Given the description of an element on the screen output the (x, y) to click on. 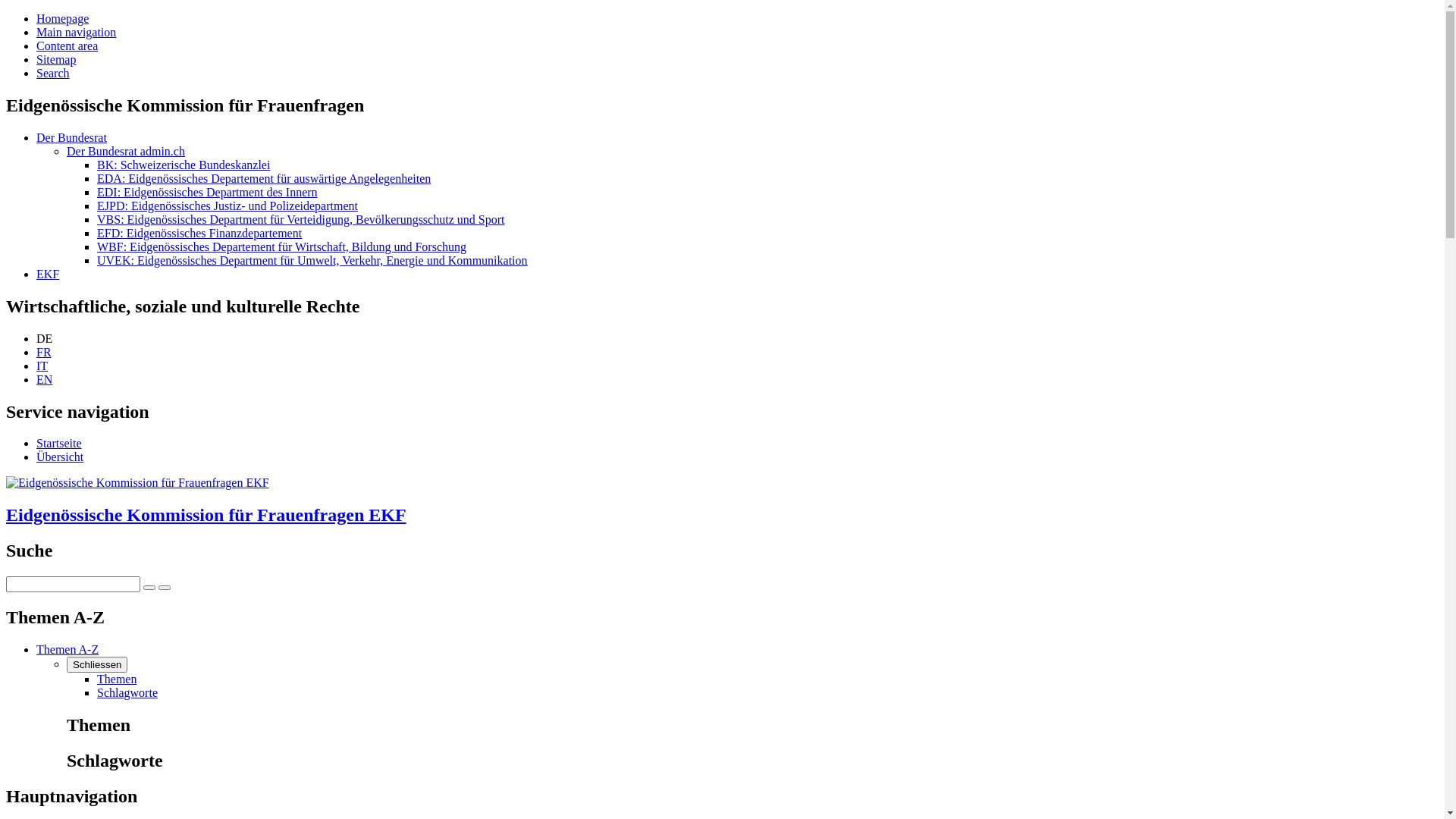
Schliessen Element type: text (96, 664)
Themen Element type: text (116, 678)
Search Element type: text (52, 72)
Content area Element type: text (66, 45)
DE Element type: text (44, 338)
Main navigation Element type: text (76, 31)
Themen A-Z Element type: text (67, 649)
IT Element type: text (41, 365)
BK: Schweizerische Bundeskanzlei Element type: text (183, 164)
EKF Element type: text (47, 273)
FR Element type: text (43, 351)
Sitemap Element type: text (55, 59)
Schlagworte Element type: text (127, 692)
Startseite Element type: text (58, 442)
Der Bundesrat Element type: text (71, 137)
Der Bundesrat admin.ch Element type: text (125, 150)
EN Element type: text (44, 379)
Homepage Element type: text (62, 18)
